Given the description of an element on the screen output the (x, y) to click on. 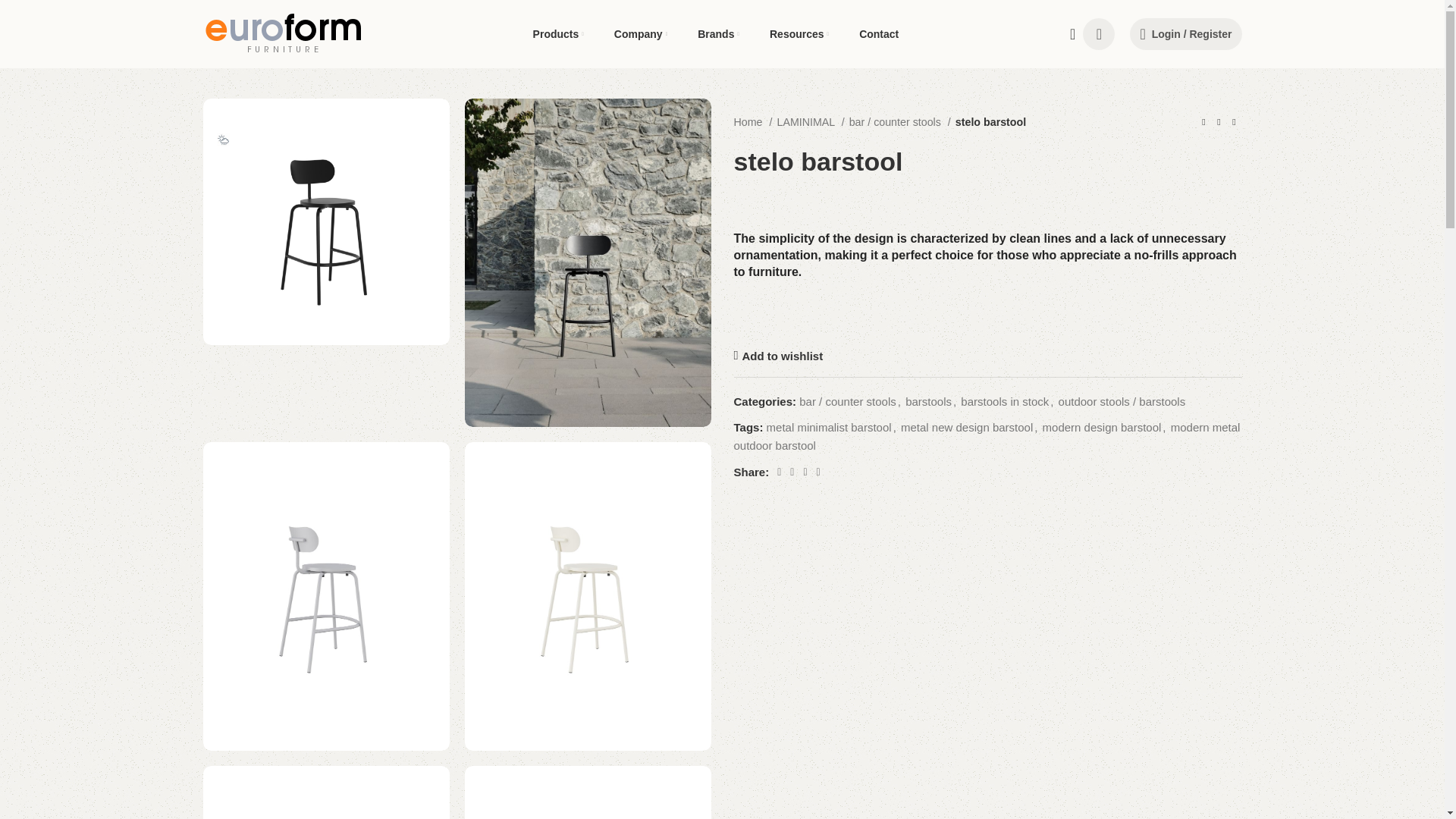
Brands (718, 33)
My Wishlist (1098, 33)
Company (640, 33)
Products (557, 33)
Search (1067, 33)
My account (1185, 33)
